Given the description of an element on the screen output the (x, y) to click on. 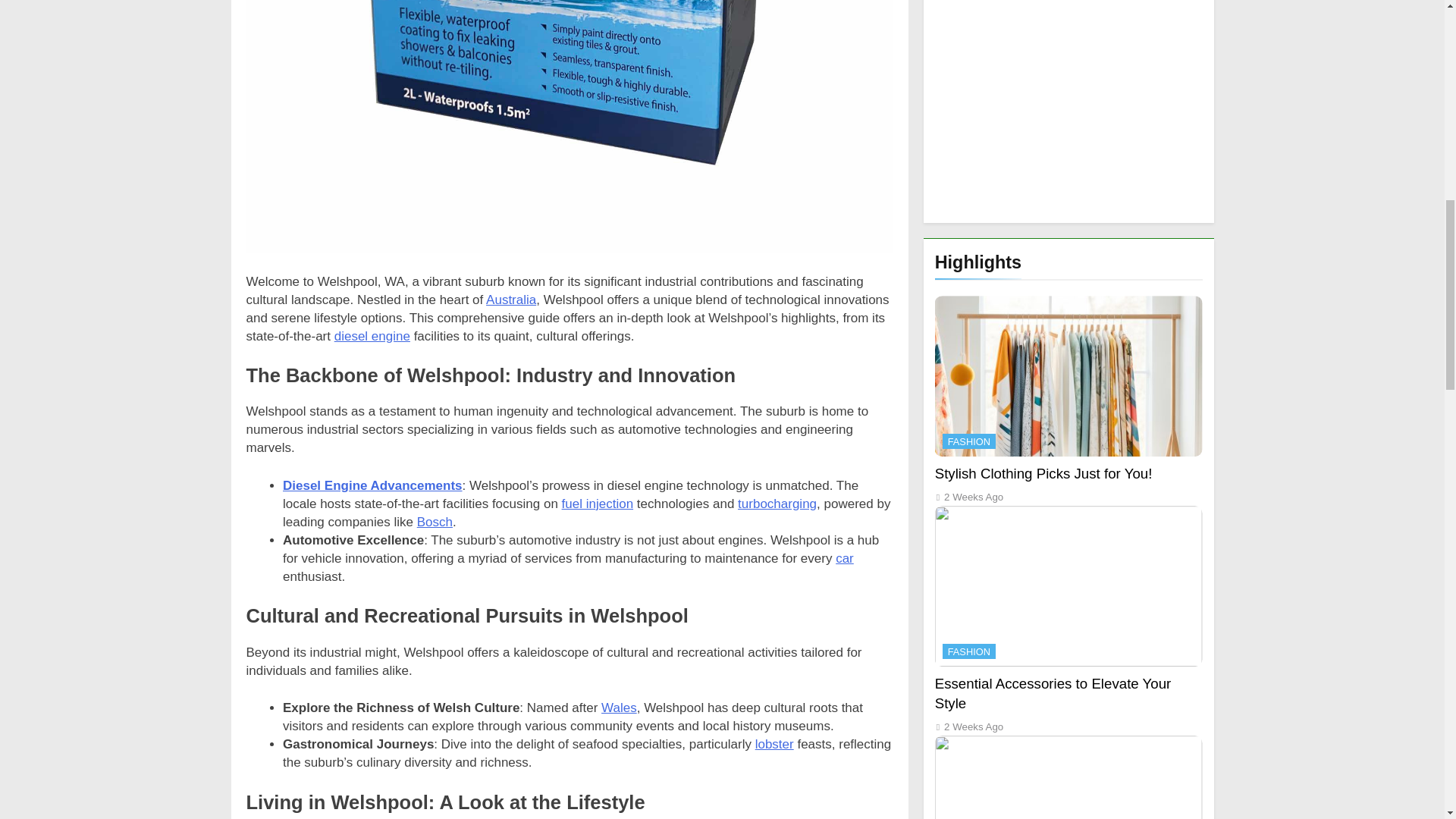
Australia (510, 299)
diesel engine (372, 336)
Diesel Engine Advancements (372, 485)
turbocharging (777, 503)
fuel injection (597, 503)
car (844, 558)
lobster (774, 744)
Wales (619, 707)
Bosch (434, 522)
